Given the description of an element on the screen output the (x, y) to click on. 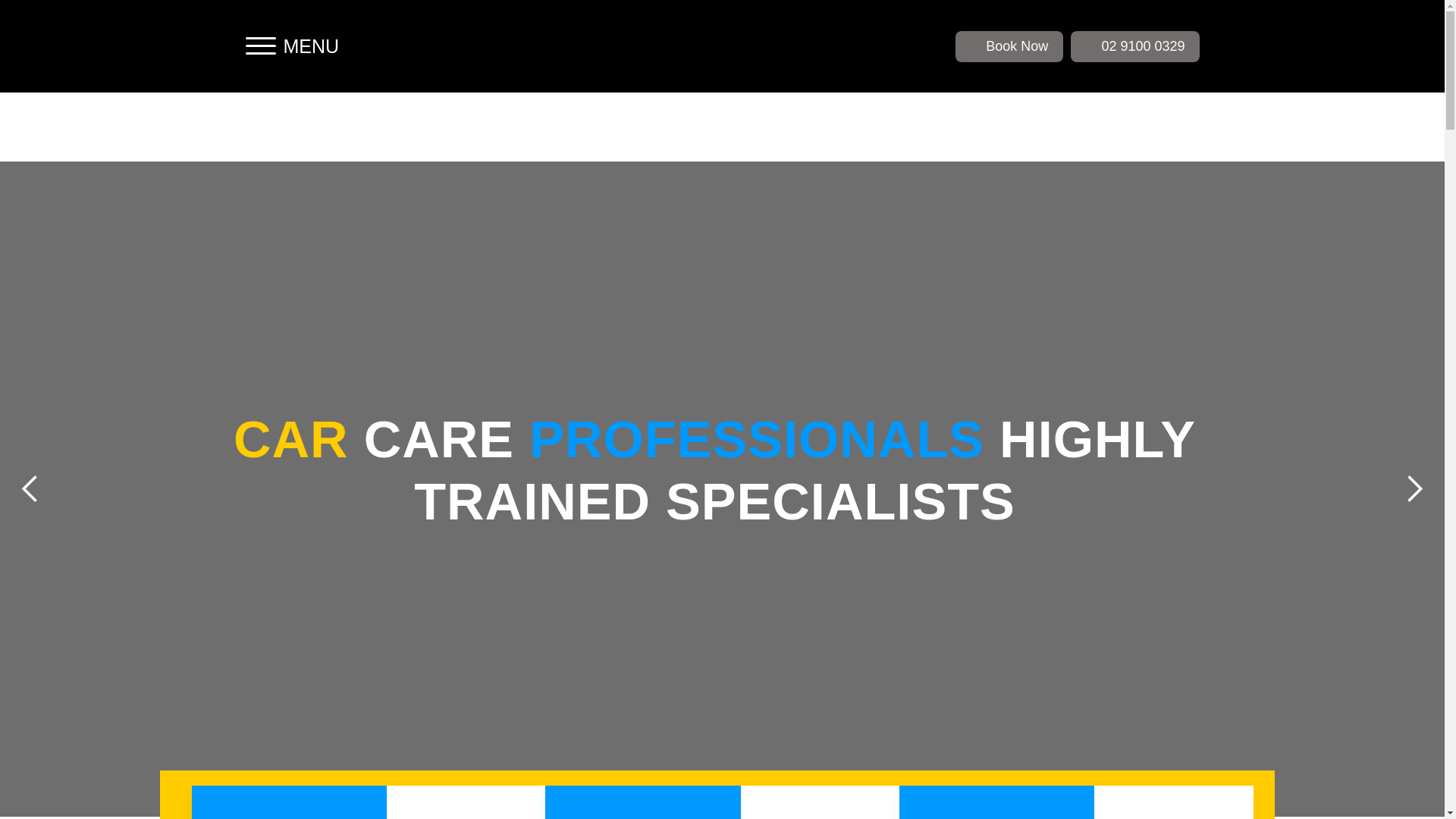
Book Now Element type: text (1009, 45)
02 9100 0329 Element type: text (1134, 45)
